Given the description of an element on the screen output the (x, y) to click on. 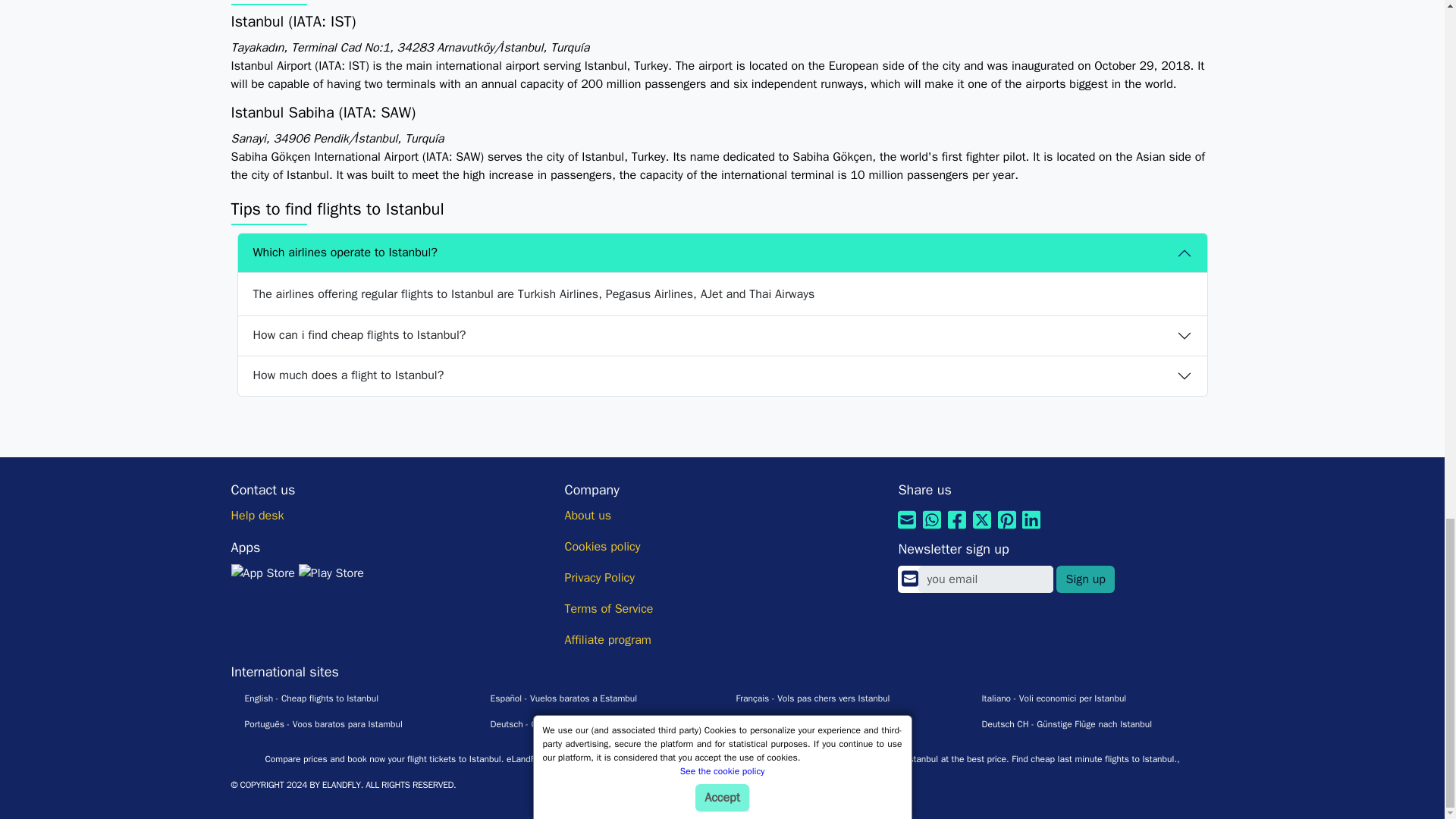
Sign up (1085, 578)
Privacy Policy (598, 577)
Cookies policy (602, 546)
How much does a flight to Istanbul? (722, 375)
About us (587, 515)
English - Cheap flights to Istanbul (304, 698)
Terms of Service (608, 608)
How can i find cheap flights to Istanbul? (722, 335)
Help desk (256, 515)
Which airlines operate to Istanbul? (722, 252)
